Given the description of an element on the screen output the (x, y) to click on. 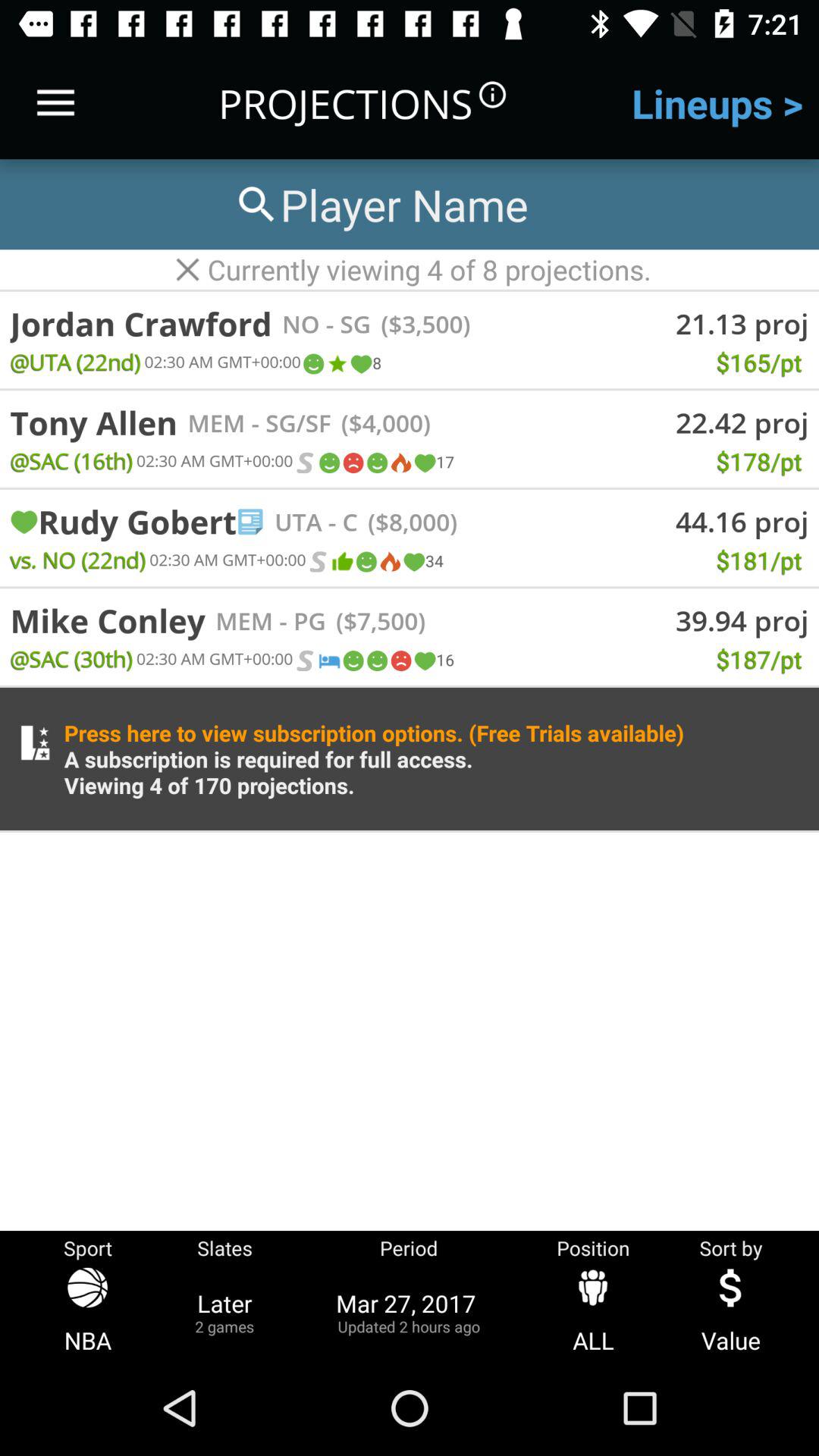
launch the item next to 02 30 am item (317, 561)
